Given the description of an element on the screen output the (x, y) to click on. 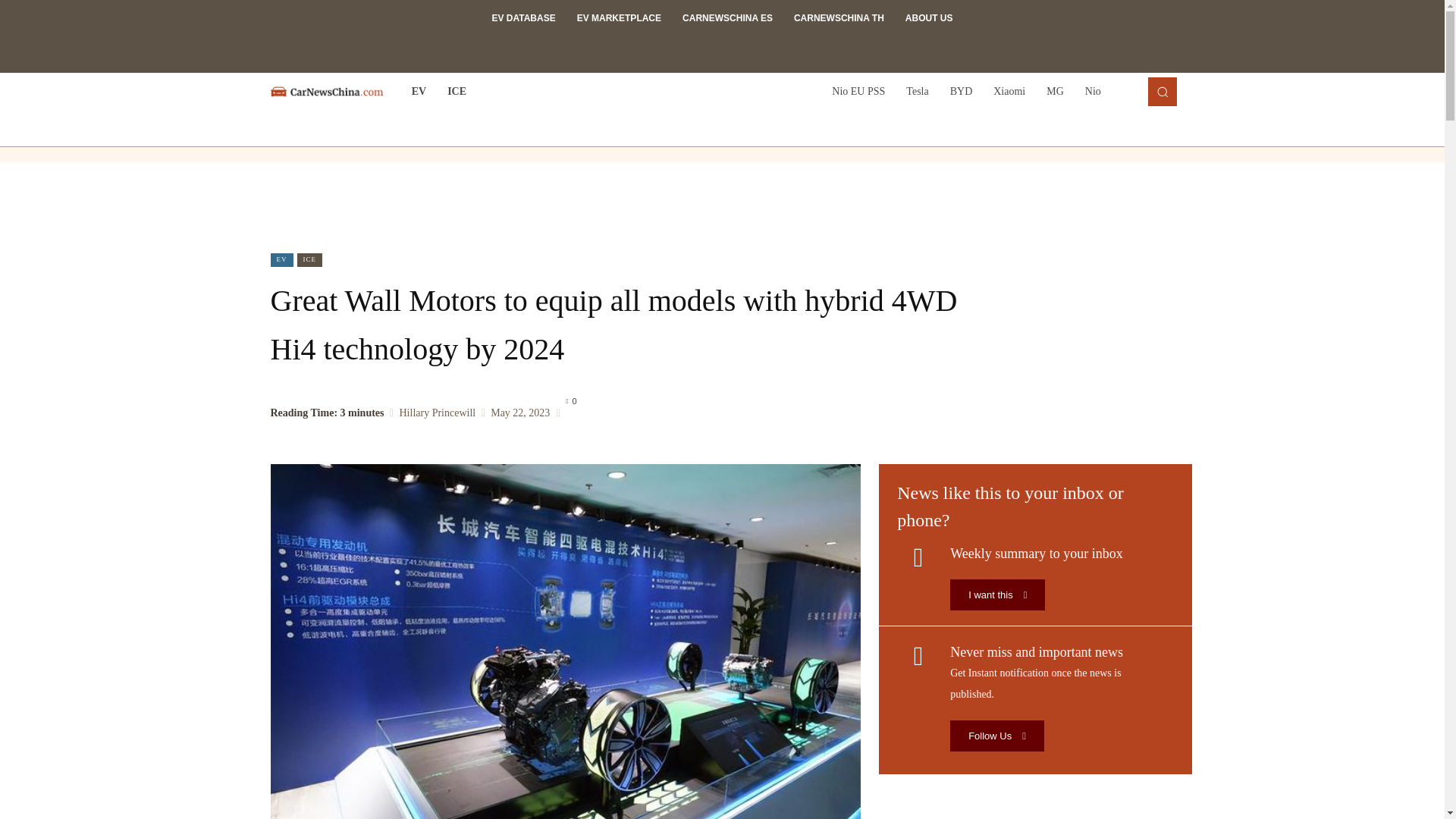
Nio (1093, 91)
CARNEWSCHINA TH (839, 18)
ABOUT US (929, 18)
Advertisement (722, 207)
ICE (456, 91)
Nio EU PSS (858, 91)
EV (418, 91)
EV MARKETPLACE (618, 18)
EV DATABASE (523, 18)
CARNEWSCHINA ES (727, 18)
MG (1054, 91)
